Given the description of an element on the screen output the (x, y) to click on. 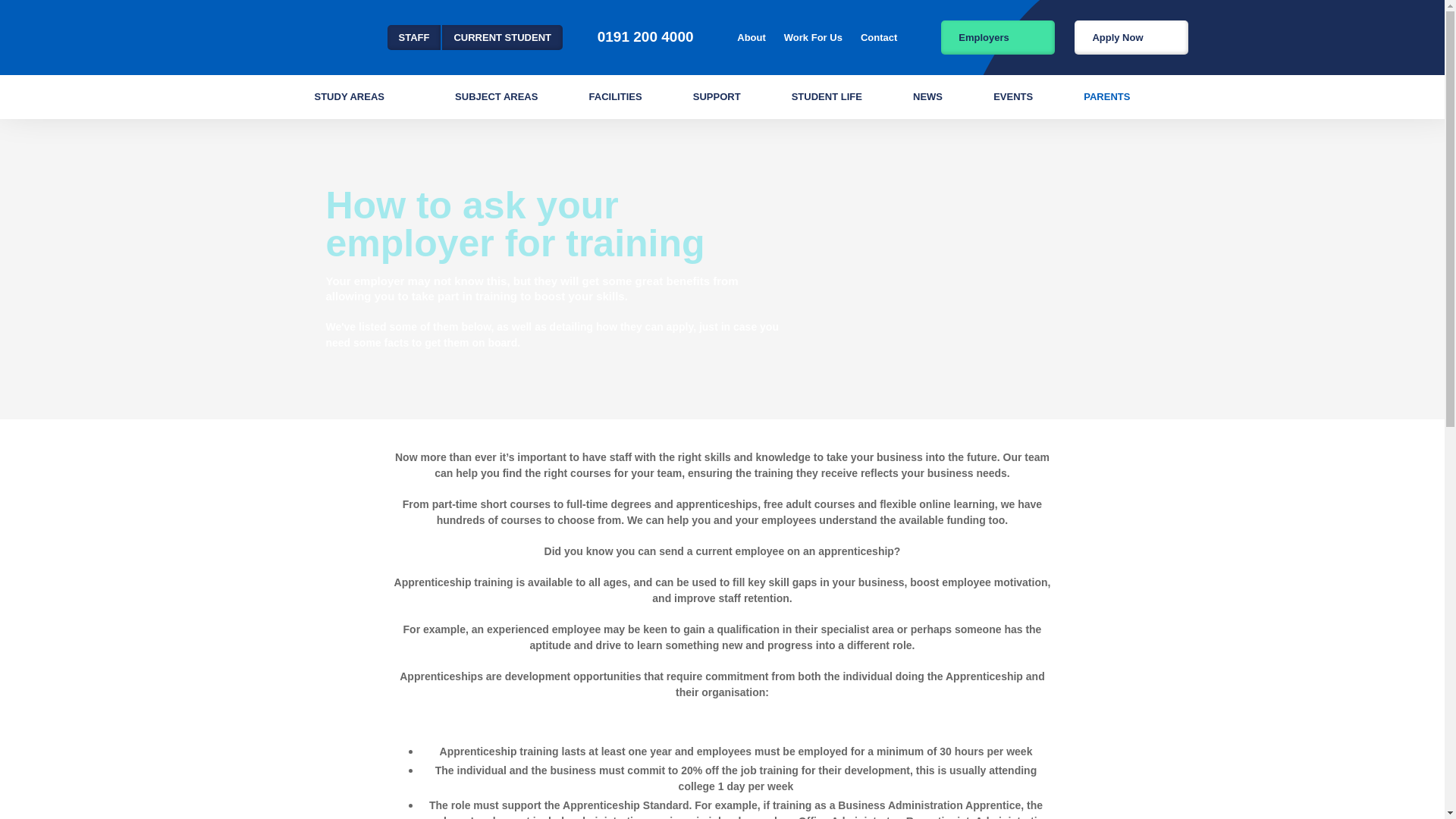
Apply Now (1131, 36)
STUDENT LIFE (826, 96)
NEWS (927, 96)
0191 200 4000 (645, 36)
STAFF (414, 36)
About (750, 36)
Contact (878, 36)
Work For Us (813, 36)
EVENTS (1012, 96)
SUPPORT (717, 96)
